Given the description of an element on the screen output the (x, y) to click on. 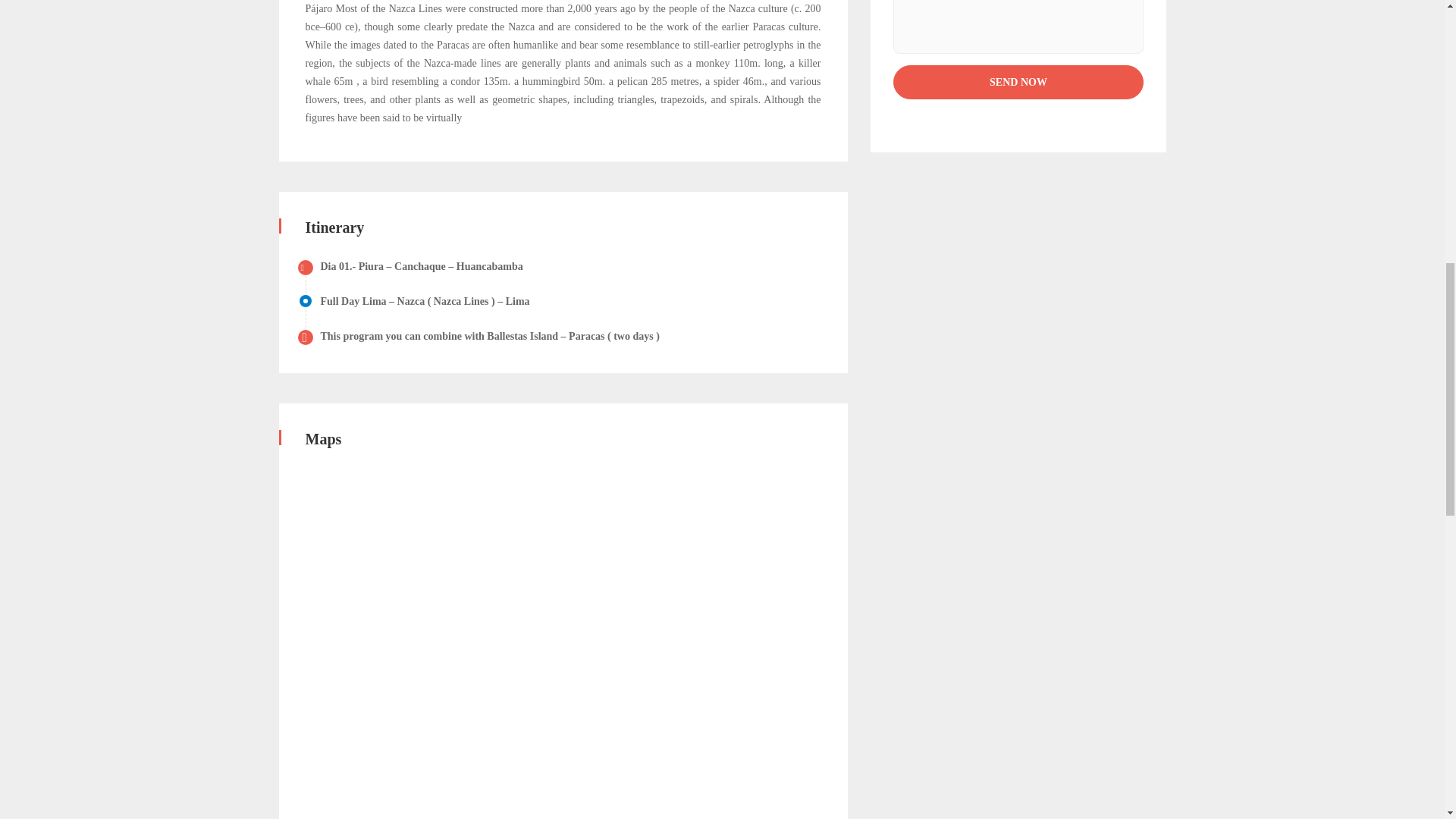
Send NOW (1017, 82)
Send NOW (1017, 82)
